Given the description of an element on the screen output the (x, y) to click on. 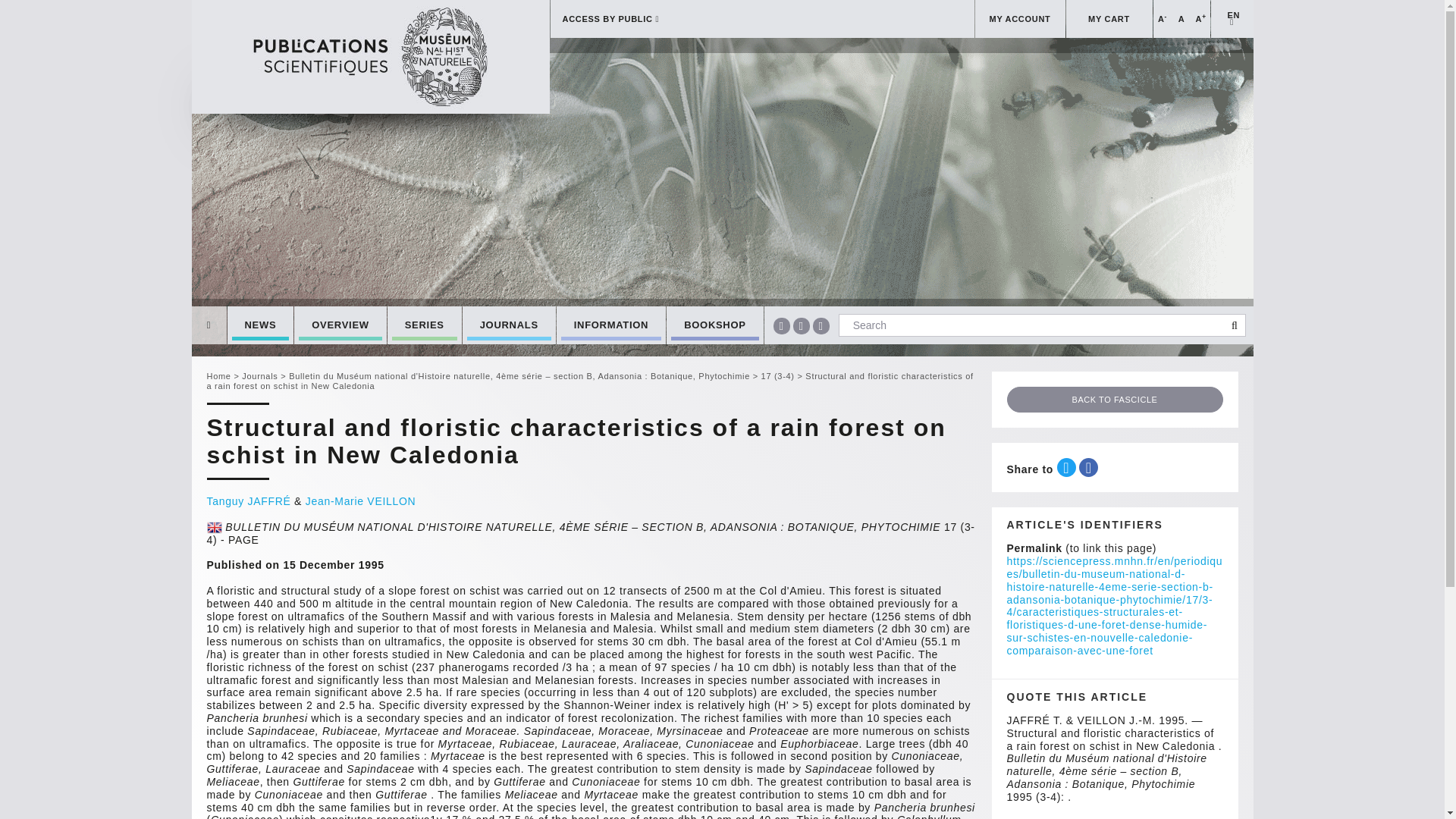
Twitter (801, 325)
ACCESS BY PUBLIC (762, 18)
Bookshop (714, 324)
Jean-Marie VEILLON (360, 500)
MY ACCOUNT (1020, 18)
SERIES (424, 324)
Series (424, 324)
Overview (339, 324)
MY CART (1109, 18)
JOURNALS (509, 324)
NEWS (260, 324)
OVERVIEW (339, 324)
Facebook (781, 325)
News (260, 324)
Journals (509, 324)
